Given the description of an element on the screen output the (x, y) to click on. 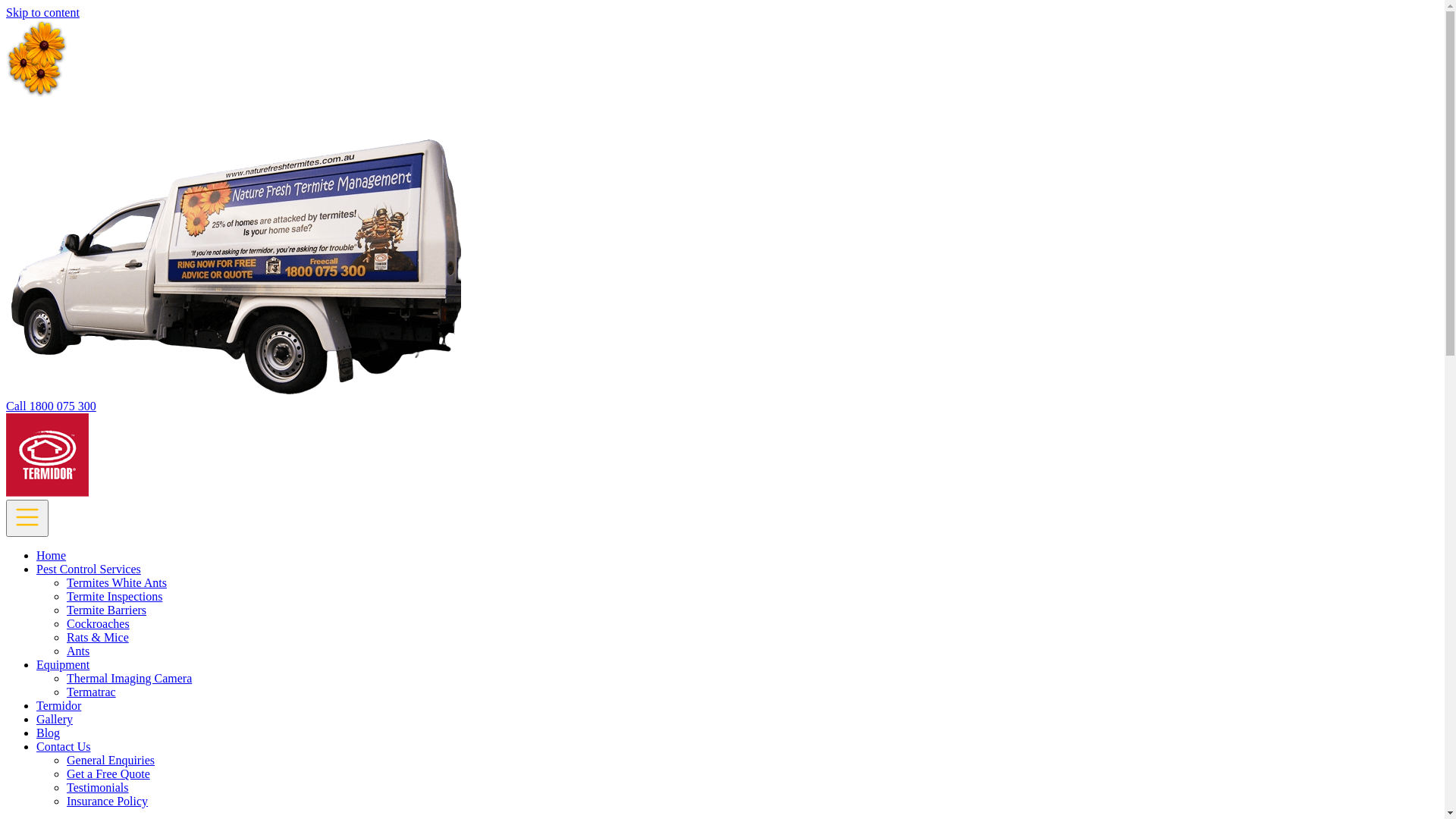
Termite Inspections Element type: text (114, 595)
Get a Free Quote Element type: text (108, 773)
Thermal Imaging Camera Element type: text (128, 677)
Termidor Element type: text (58, 705)
Blog Element type: text (47, 732)
Skip to content Element type: text (42, 12)
Home Element type: text (50, 555)
Rats & Mice Element type: text (97, 636)
Insurance Policy Element type: text (106, 800)
Termatrac Element type: text (91, 691)
Cockroaches Element type: text (97, 623)
Ants Element type: text (77, 650)
Call 1800 075 300 Element type: text (51, 405)
General Enquiries Element type: text (110, 759)
Termites White Ants Element type: text (116, 582)
Termite Barriers Element type: text (106, 609)
Pest Control Services Element type: text (88, 568)
Testimonials Element type: text (97, 787)
Contact Us Element type: text (63, 746)
Equipment Element type: text (62, 664)
Gallery Element type: text (54, 718)
